Given the description of an element on the screen output the (x, y) to click on. 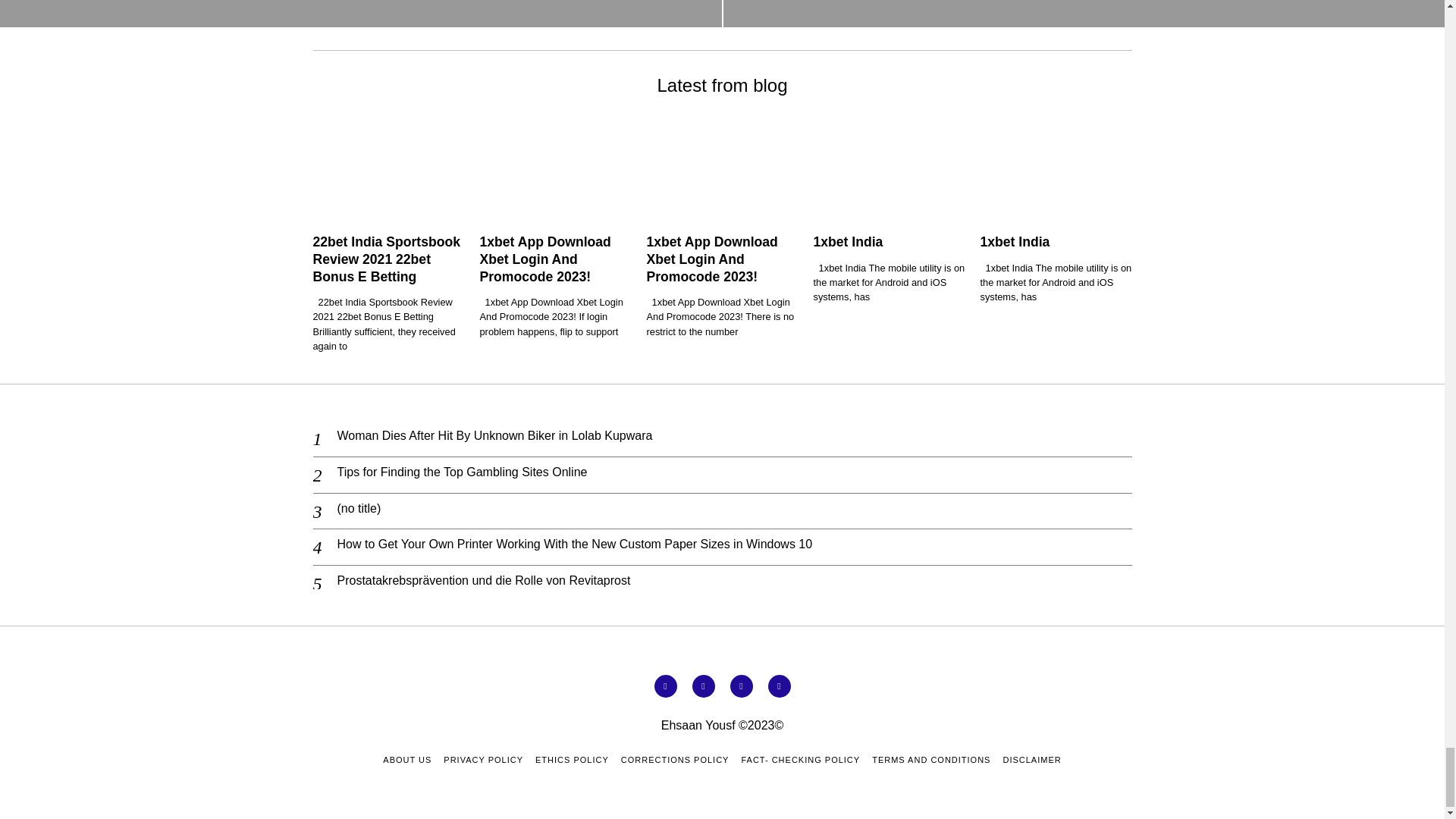
Twitter (702, 685)
Instagram (740, 685)
Facebook (665, 685)
22bet India Sportsbook Review 2021 22bet Bonus E Betting (386, 259)
Telegram (778, 685)
